Given the description of an element on the screen output the (x, y) to click on. 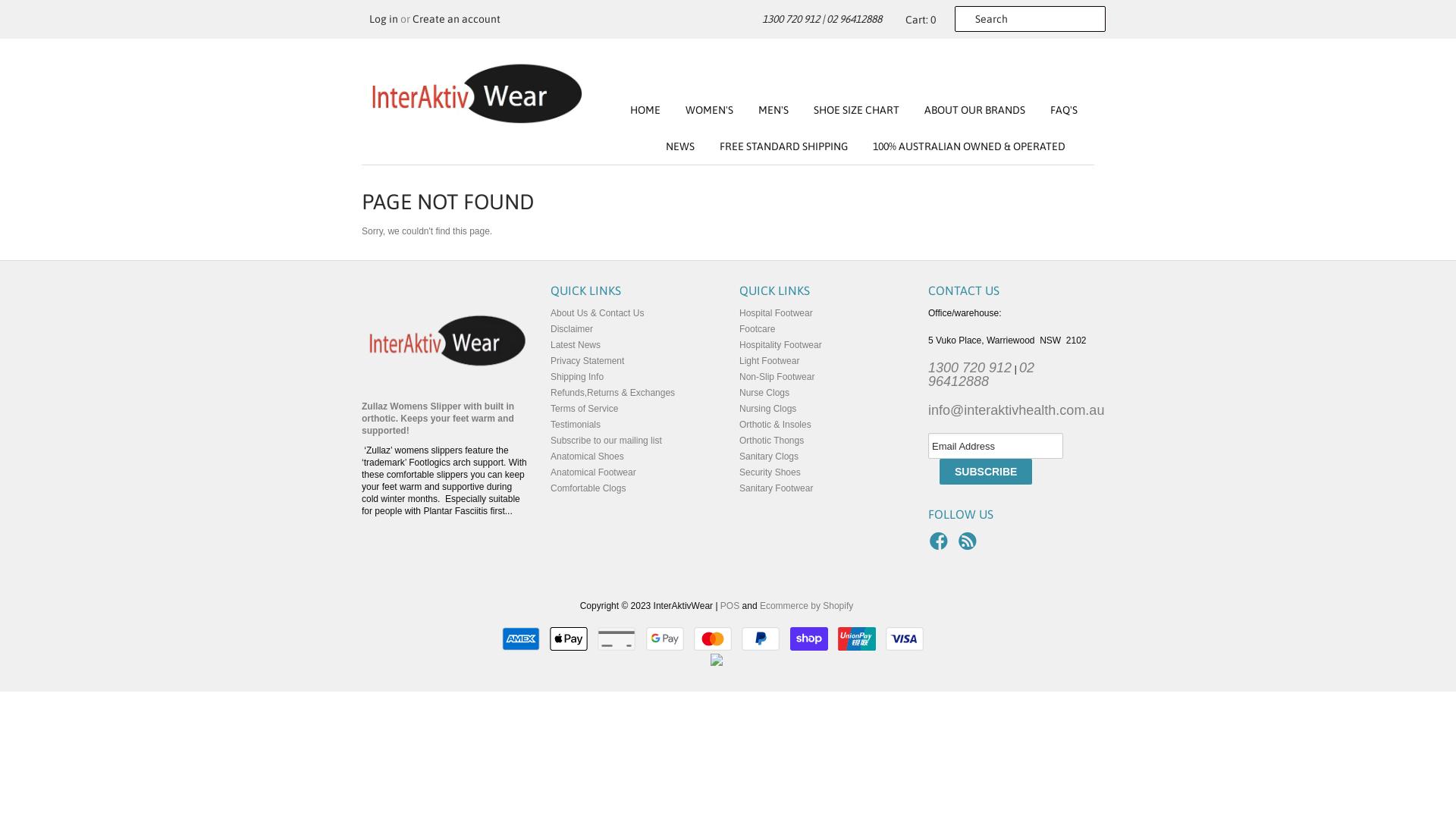
Nursing Clogs Element type: text (767, 408)
Security Shoes Element type: text (769, 472)
Disclaimer Element type: text (571, 328)
Sanitary Clogs Element type: text (768, 456)
Subscribe to our blog Element type: hover (969, 545)
Follow us on Facebook Element type: hover (940, 545)
Subscribe to our mailing list Element type: text (606, 440)
Non-Slip Footwear Element type: text (776, 376)
POS Element type: text (729, 605)
Testimonials Element type: text (575, 424)
Light Footwear Element type: text (769, 360)
1300 720 912 Element type: text (790, 18)
Hospital Footwear Element type: text (775, 312)
Ecommerce by Shopify Element type: text (806, 605)
info@interaktivhealth.com.au Element type: text (1016, 409)
Refunds,Returns & Exchanges Element type: text (612, 392)
02 96412888 Element type: text (853, 18)
Orthotic & Insoles Element type: text (775, 424)
Comfortable Clogs Element type: text (587, 488)
100% AUSTRALIAN OWNED & OPERATED Element type: text (956, 146)
Subscribe Element type: text (985, 471)
ABOUT OUR BRANDS Element type: text (963, 109)
Cart: 0 Element type: text (917, 19)
HOME Element type: text (645, 109)
Anatomical Shoes Element type: text (587, 456)
Create an account Element type: text (456, 18)
Sanitary Footwear Element type: text (775, 488)
NEWS Element type: text (668, 146)
Orthotic Thongs Element type: text (771, 440)
Privacy Statement Element type: text (587, 360)
SHOE SIZE CHART Element type: text (844, 109)
1300 720 912 Element type: text (969, 367)
02 96412888 Element type: text (981, 374)
About Us & Contact Us Element type: text (596, 312)
Terms of Service Element type: text (584, 408)
Footcare Element type: text (757, 328)
FAQ'S Element type: text (1052, 109)
MEN'S Element type: text (761, 109)
Hospitality Footwear Element type: text (780, 344)
FREE STANDARD SHIPPING Element type: text (771, 146)
WOMEN'S Element type: text (697, 109)
Nurse Clogs Element type: text (764, 392)
Anatomical Footwear Element type: text (593, 472)
Latest News Element type: text (575, 344)
Shipping Info Element type: text (576, 376)
Log in Element type: text (383, 18)
